Given the description of an element on the screen output the (x, y) to click on. 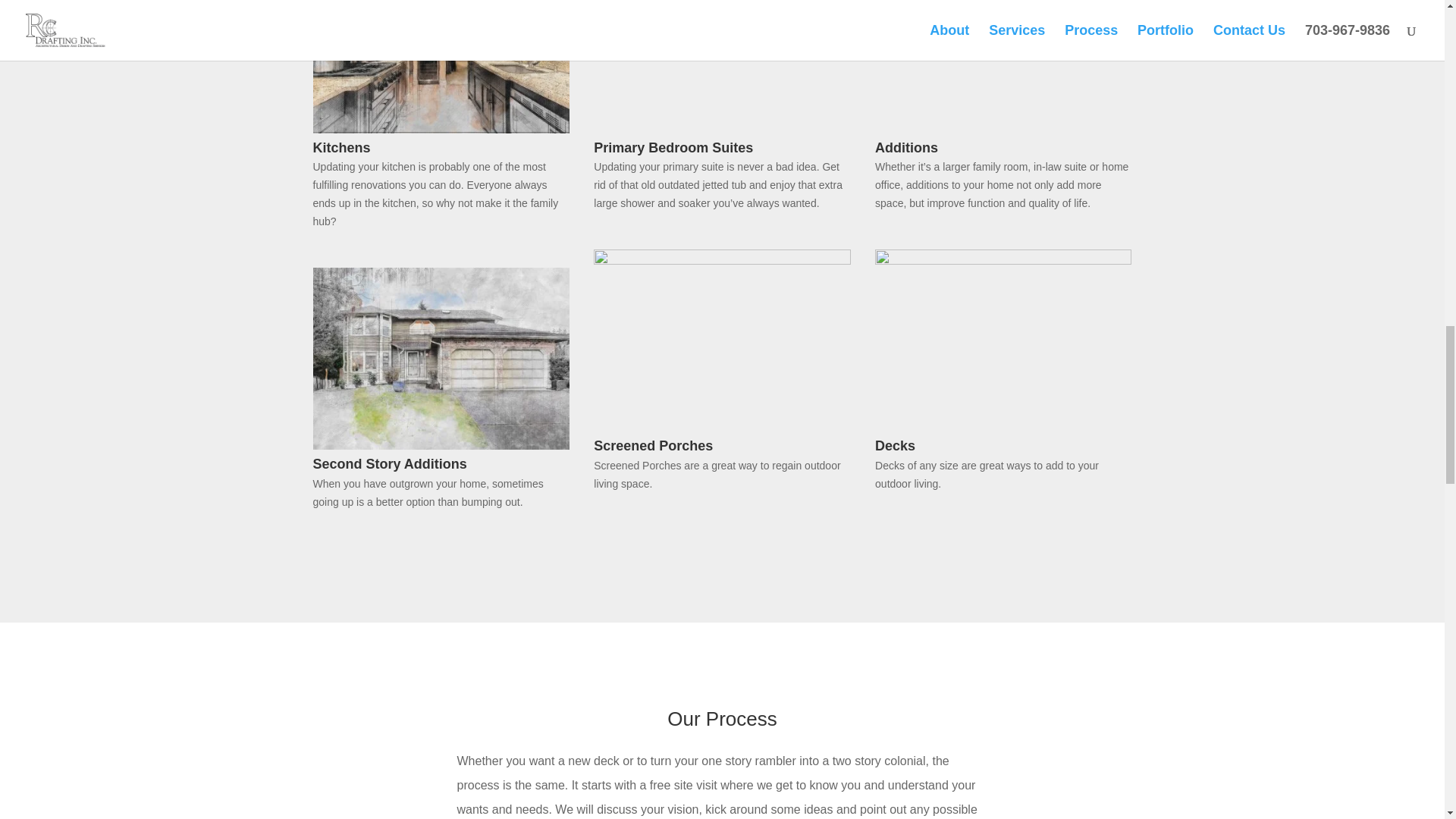
Screened Porches (722, 260)
Kitchens (441, 129)
Second Story Additions (441, 445)
Decks (1003, 260)
